Given the description of an element on the screen output the (x, y) to click on. 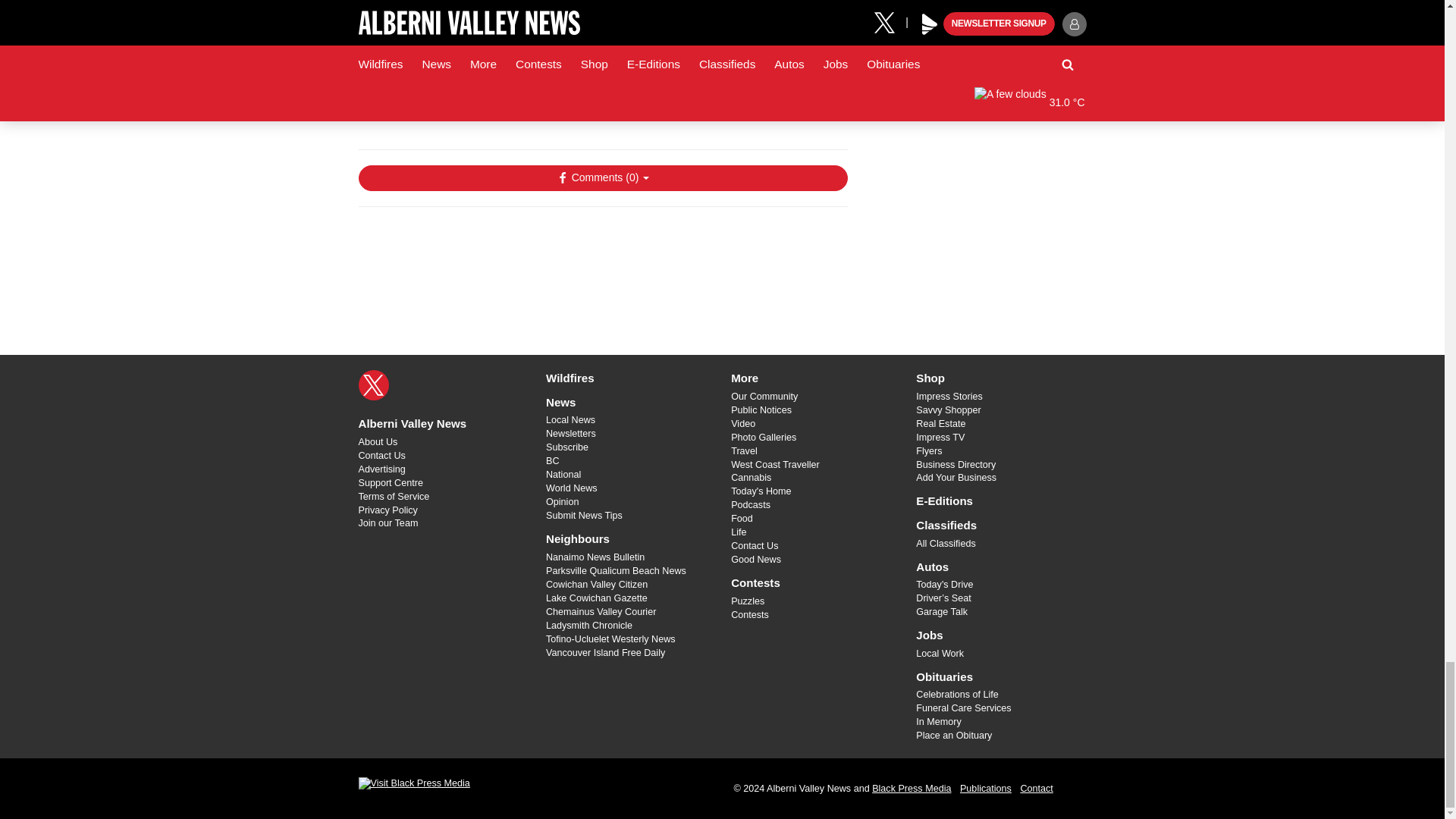
Show Comments (602, 177)
X (373, 385)
